Given the description of an element on the screen output the (x, y) to click on. 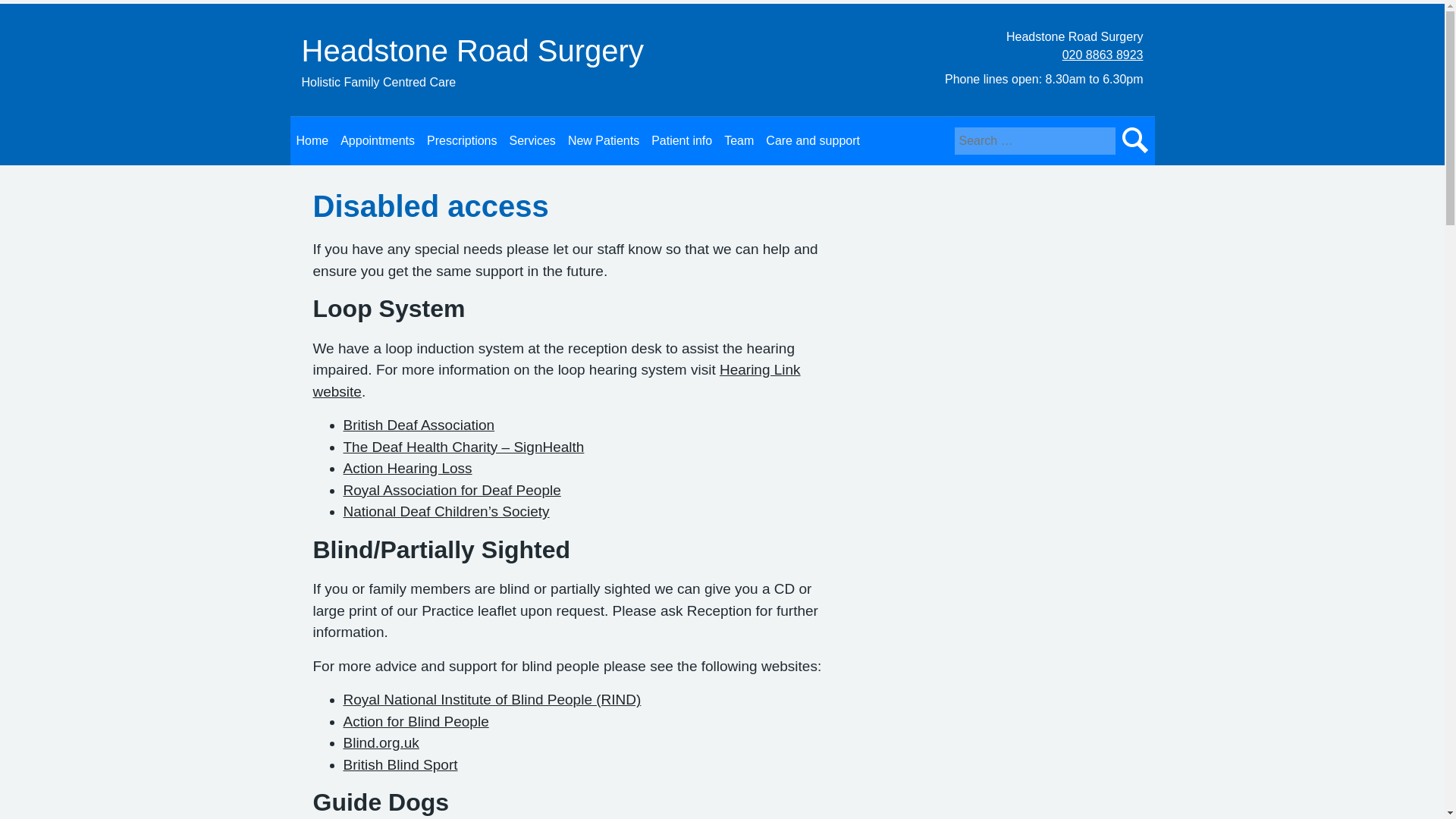
Appointments (377, 141)
Search for: (1034, 140)
Blind.org.uk (380, 742)
Royal Association for Deaf People (451, 489)
British Blind Sport (399, 764)
Care and support (813, 141)
Hearing Link website (556, 380)
search (1134, 140)
020 8863 8923 (1102, 54)
Team (738, 141)
